Given the description of an element on the screen output the (x, y) to click on. 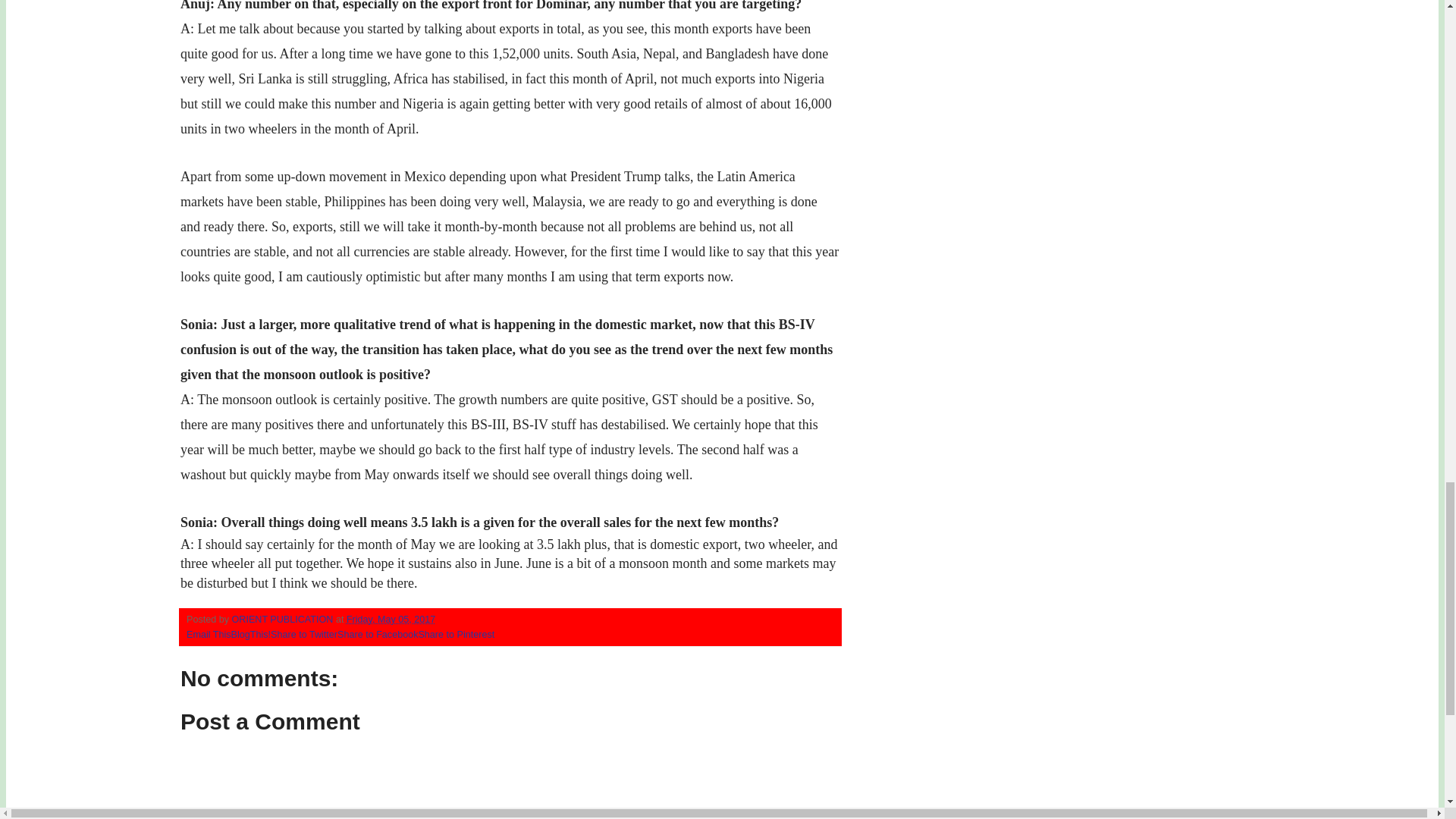
Friday, May 05, 2017 (390, 619)
Share to Facebook (377, 634)
Share to Pinterest (456, 634)
permanent link (390, 619)
BlogThis! (250, 634)
Share to Pinterest (456, 634)
ORIENT PUBLICATION (283, 619)
Email This (208, 634)
Share to Facebook (377, 634)
Email This (208, 634)
